Given the description of an element on the screen output the (x, y) to click on. 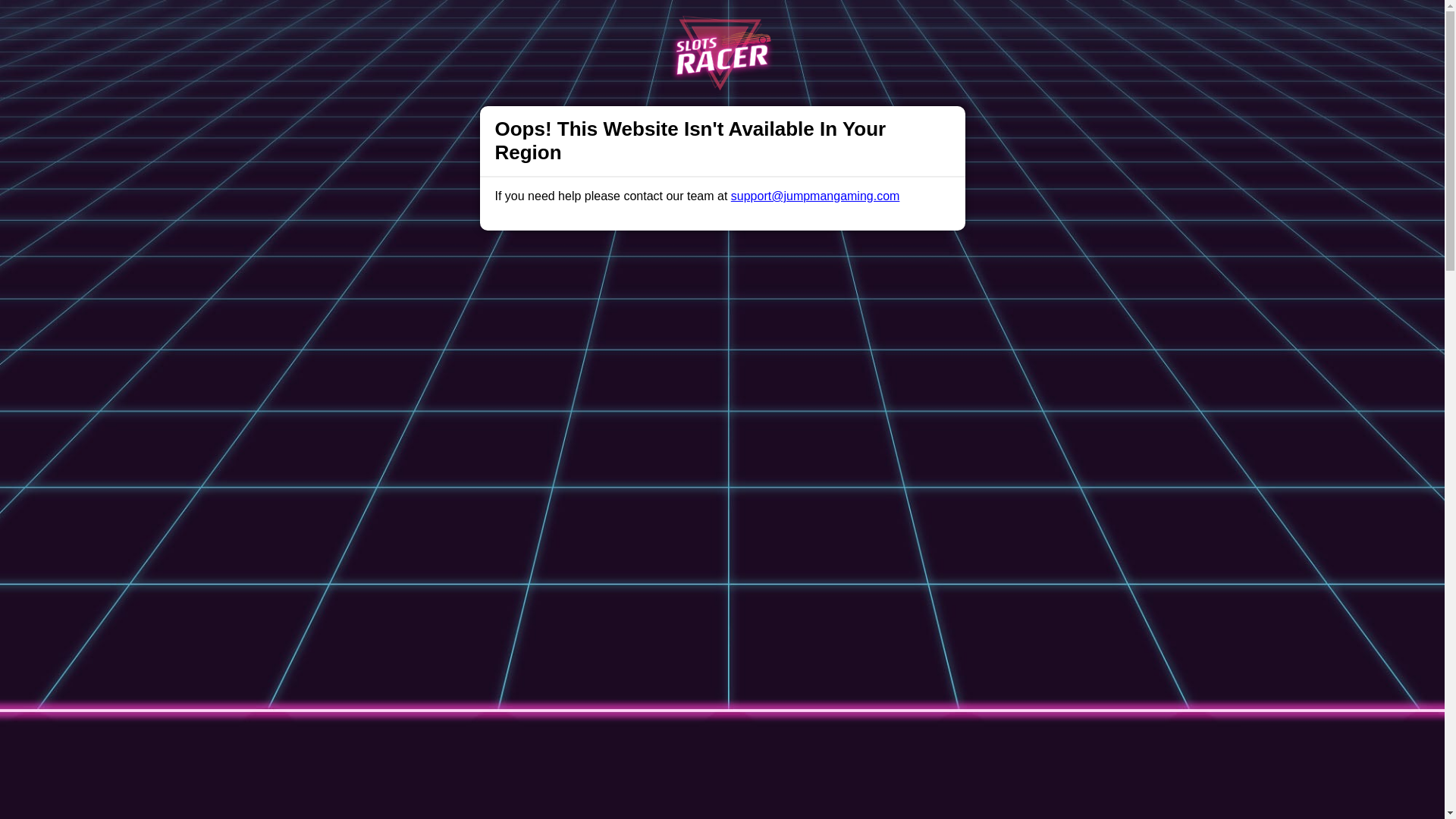
Trophies (437, 26)
Goldilocks (906, 731)
Big Bad Wolf (831, 731)
free video slots (708, 699)
Join Now (1053, 27)
slots offers (457, 692)
Fishin Frenzy Megaways (719, 731)
Login (958, 27)
Rainbow Riches (539, 731)
Starburst (618, 731)
